Given the description of an element on the screen output the (x, y) to click on. 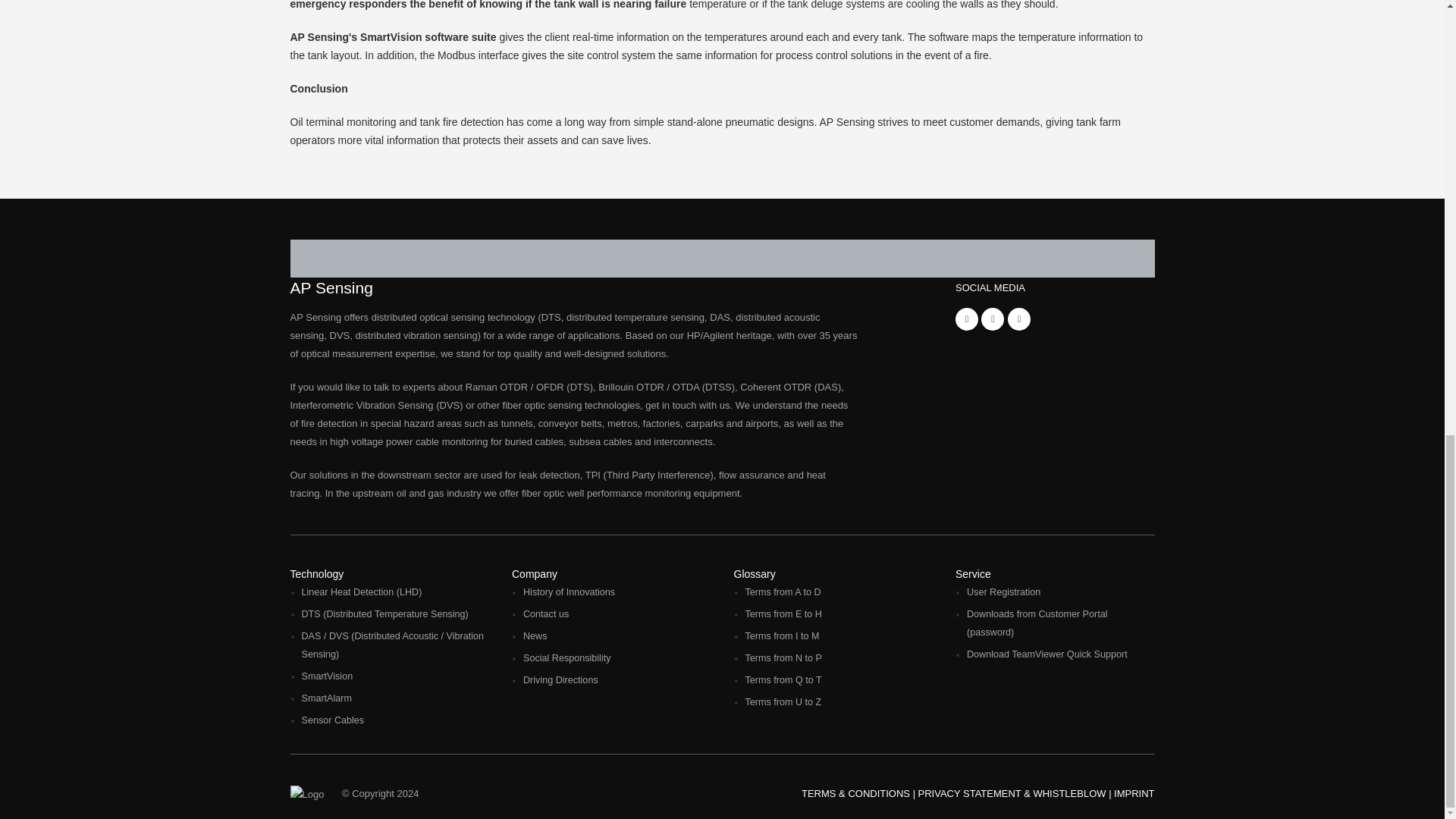
Facebook (966, 318)
Linked In (992, 318)
